Given the description of an element on the screen output the (x, y) to click on. 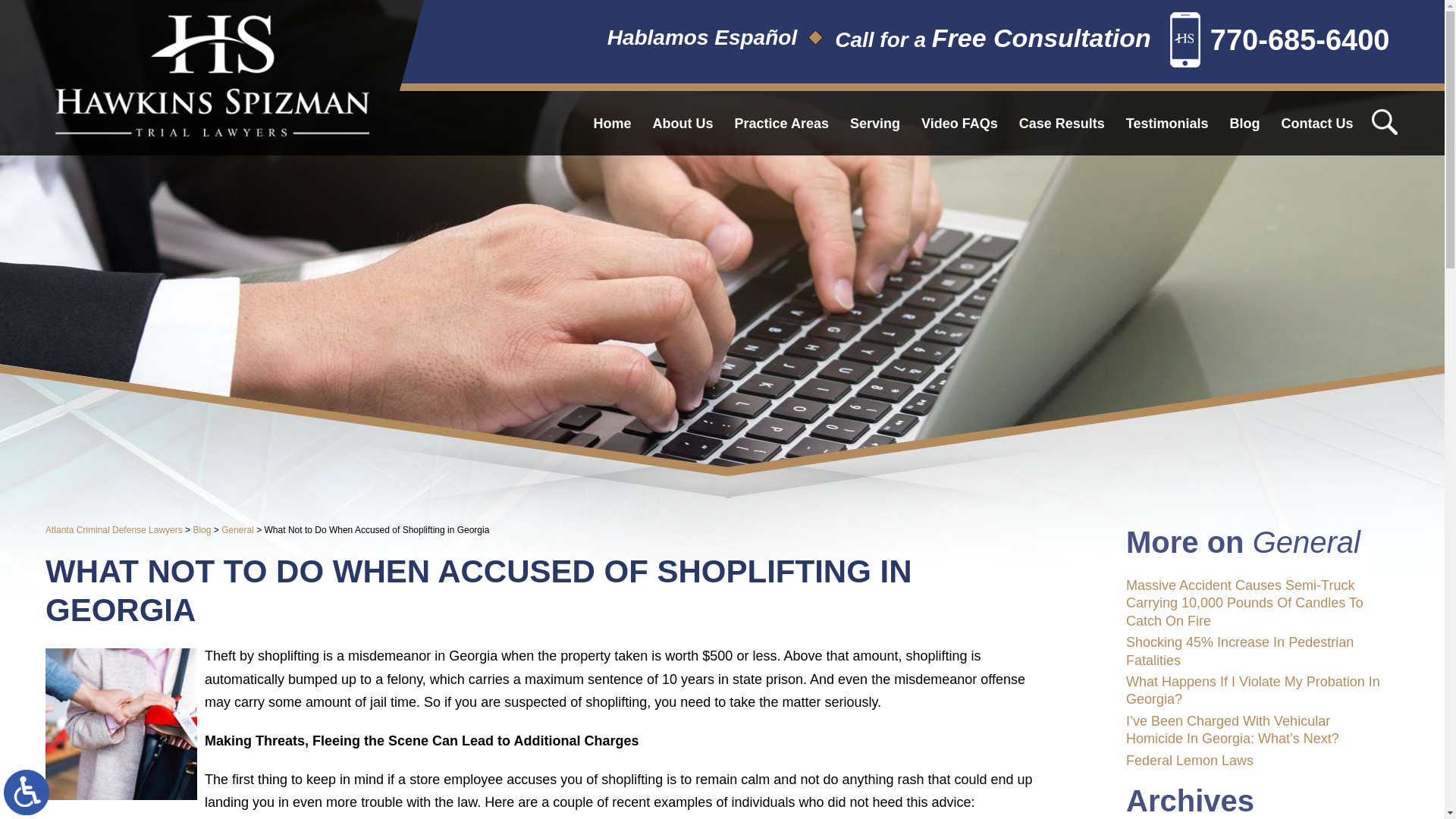
Home (612, 123)
770-685-6400 (1280, 41)
Practice Areas (781, 123)
ShopliftingTheft (120, 724)
Search (1383, 121)
About Us (682, 123)
Switch to ADA Accessible Theme (26, 791)
